Given the description of an element on the screen output the (x, y) to click on. 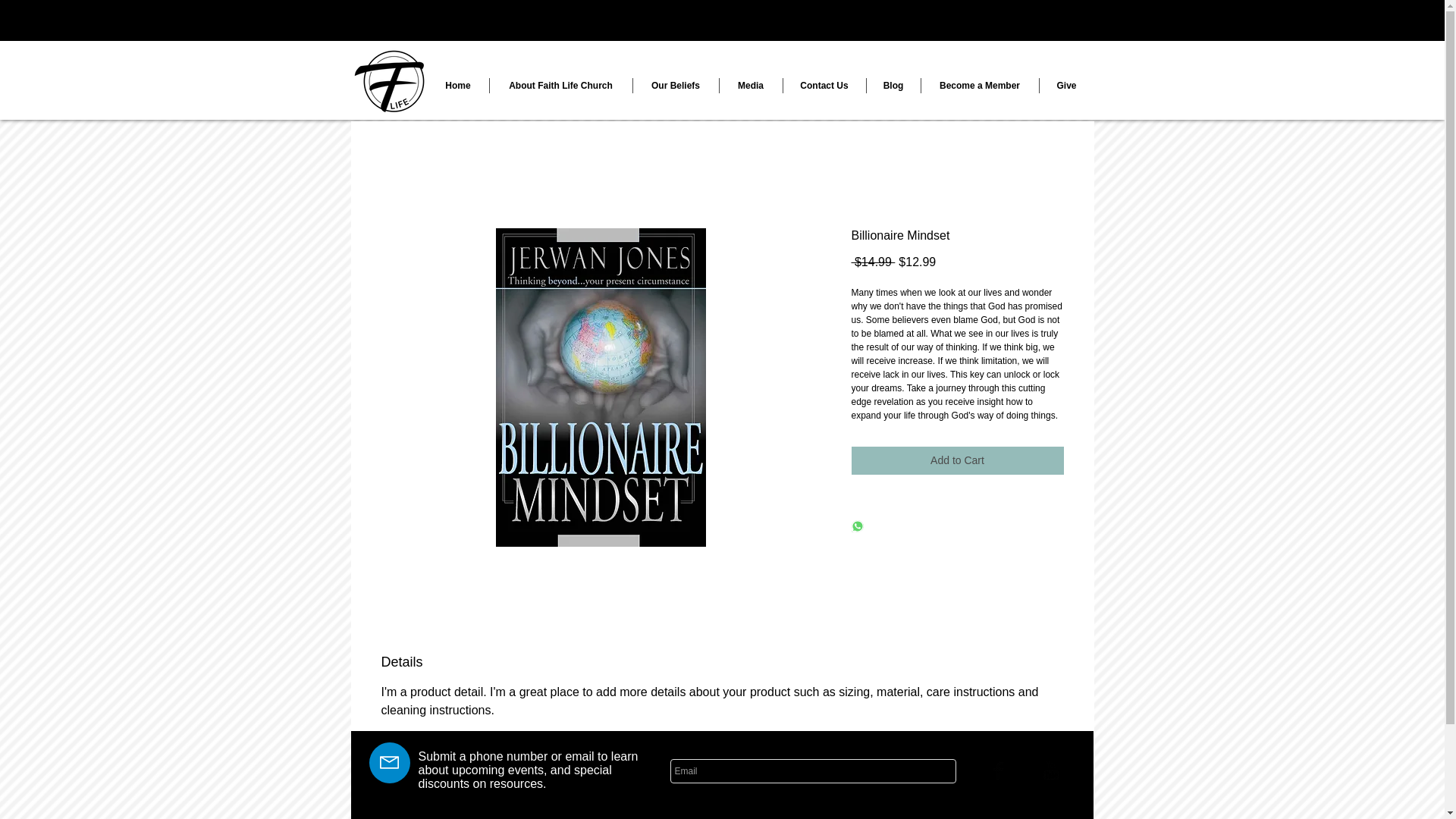
Give (1066, 85)
Media (750, 85)
About Faith Life Church (560, 85)
Become a Member (979, 85)
Our Beliefs (674, 85)
Contact Us (823, 85)
Blog (893, 85)
Add to Cart (956, 460)
Home (458, 85)
